Given the description of an element on the screen output the (x, y) to click on. 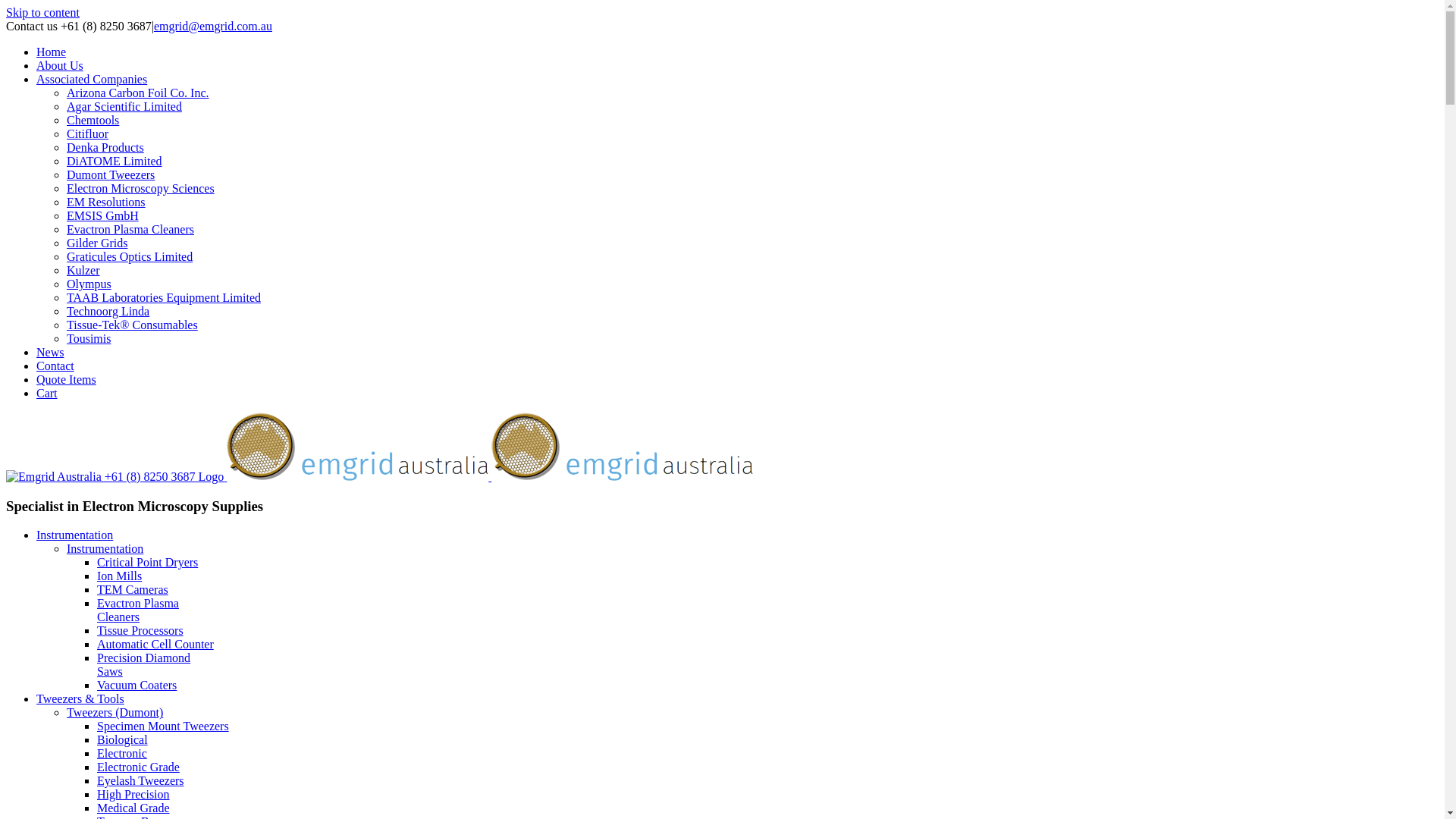
Dumont Tweezers Element type: text (110, 174)
Agar Scientific Limited Element type: text (124, 106)
Tweezers (Dumont) Element type: text (114, 712)
Denka Products Element type: text (105, 147)
About Us Element type: text (59, 65)
Tissue Processors Element type: text (140, 630)
emgrid@emgrid.com.au Element type: text (212, 25)
Tousimis Element type: text (88, 338)
Automatic Cell Counter Element type: text (155, 643)
Critical Point Dryers Element type: text (147, 561)
Technoorg Linda Element type: text (107, 310)
Cart Element type: text (46, 392)
Electronic Element type: text (122, 752)
Kulzer Element type: text (83, 269)
Instrumentation Element type: text (74, 534)
News Element type: text (49, 351)
Eyelash Tweezers Element type: text (140, 780)
Evactron Plasma Cleaners Element type: text (130, 228)
Graticules Optics Limited Element type: text (129, 256)
Biological Element type: text (122, 739)
Precision Diamond Saws Element type: text (143, 664)
Home Element type: text (50, 51)
Instrumentation Element type: text (104, 548)
TAAB Laboratories Equipment Limited Element type: text (163, 297)
Quote Items Element type: text (66, 379)
Electronic Grade Element type: text (138, 766)
Contact Element type: text (55, 365)
Associated Companies Element type: text (91, 78)
Electron Microscopy Sciences Element type: text (140, 188)
EMSIS GmbH Element type: text (102, 215)
Tweezers & Tools Element type: text (80, 698)
Olympus Element type: text (88, 283)
Medical Grade Element type: text (133, 807)
Citifluor Element type: text (87, 133)
Skip to content Element type: text (42, 12)
Ion Mills Element type: text (119, 575)
High Precision Element type: text (133, 793)
DiATOME Limited Element type: text (113, 160)
Evactron Plasma Cleaners Element type: text (137, 609)
Vacuum Coaters Element type: text (136, 684)
Specimen Mount Tweezers Element type: text (163, 725)
Chemtools Element type: text (92, 119)
EM Resolutions Element type: text (105, 201)
Gilder Grids Element type: text (96, 242)
Arizona Carbon Foil Co. Inc. Element type: text (137, 92)
TEM Cameras Element type: text (132, 589)
